Given the description of an element on the screen output the (x, y) to click on. 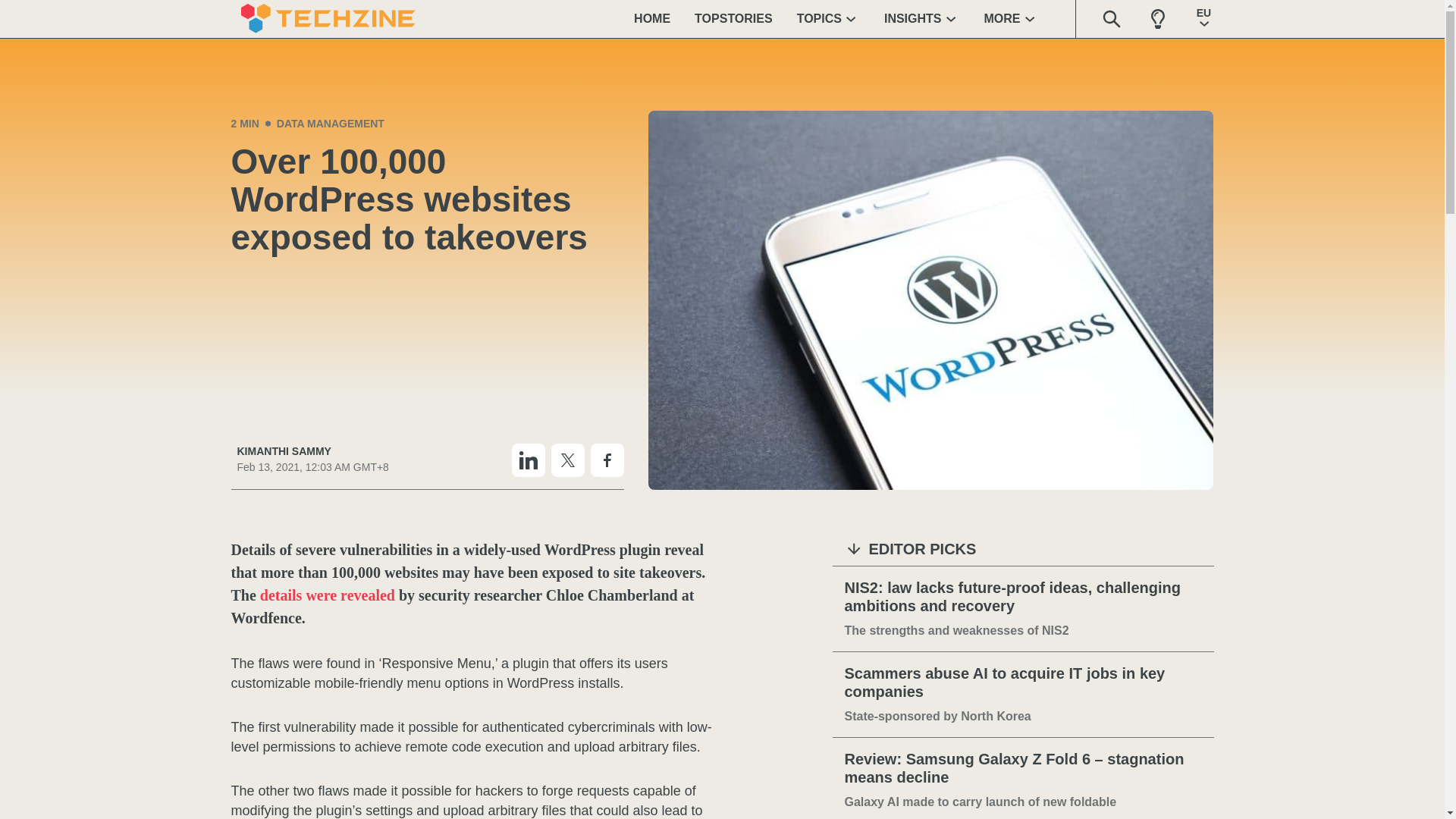
INSIGHTS (922, 18)
TOPSTORIES (733, 18)
TOPICS (828, 18)
Scammers abuse AI to acquire IT jobs in key companies (1023, 682)
HOME (651, 18)
KIMANTHI SAMMY (311, 451)
DATA MANAGEMENT (330, 123)
MORE (1011, 18)
